Given the description of an element on the screen output the (x, y) to click on. 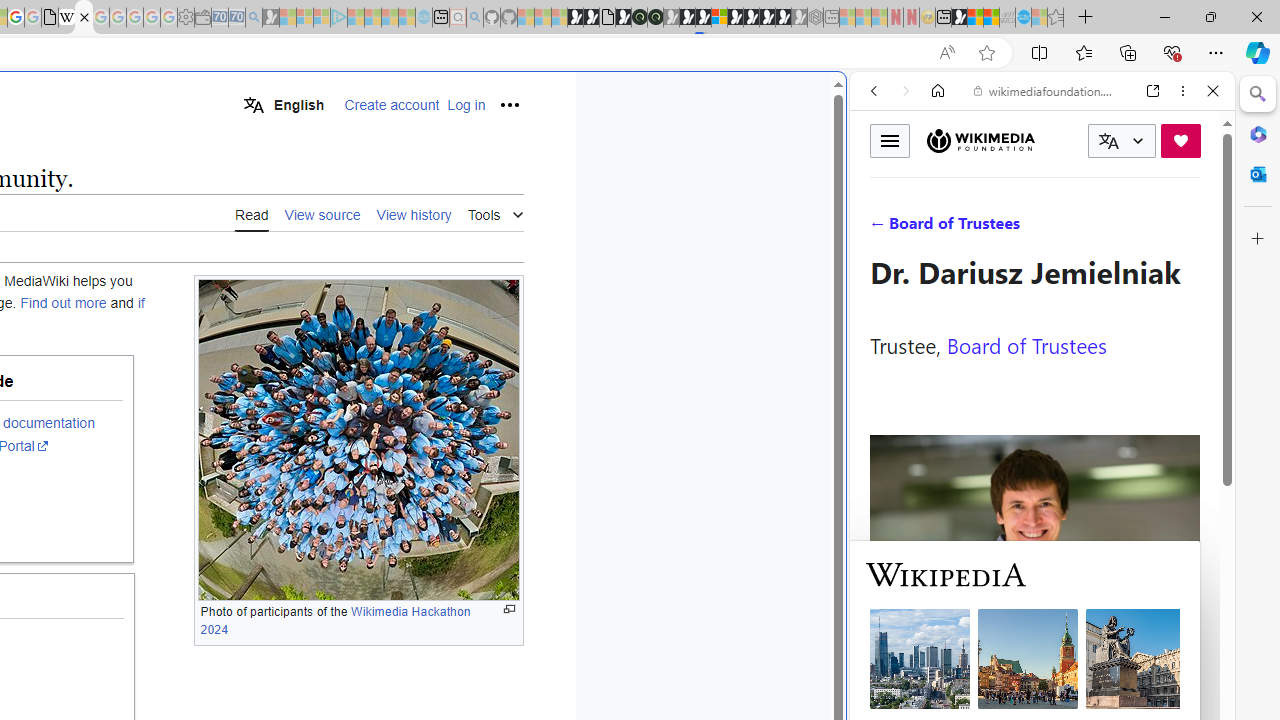
Search or enter web address (343, 191)
Personal tools (508, 104)
Read (251, 213)
Log in (466, 105)
View history (413, 213)
Class: i icon icon-translate language-switcher__icon (1108, 141)
